Given the description of an element on the screen output the (x, y) to click on. 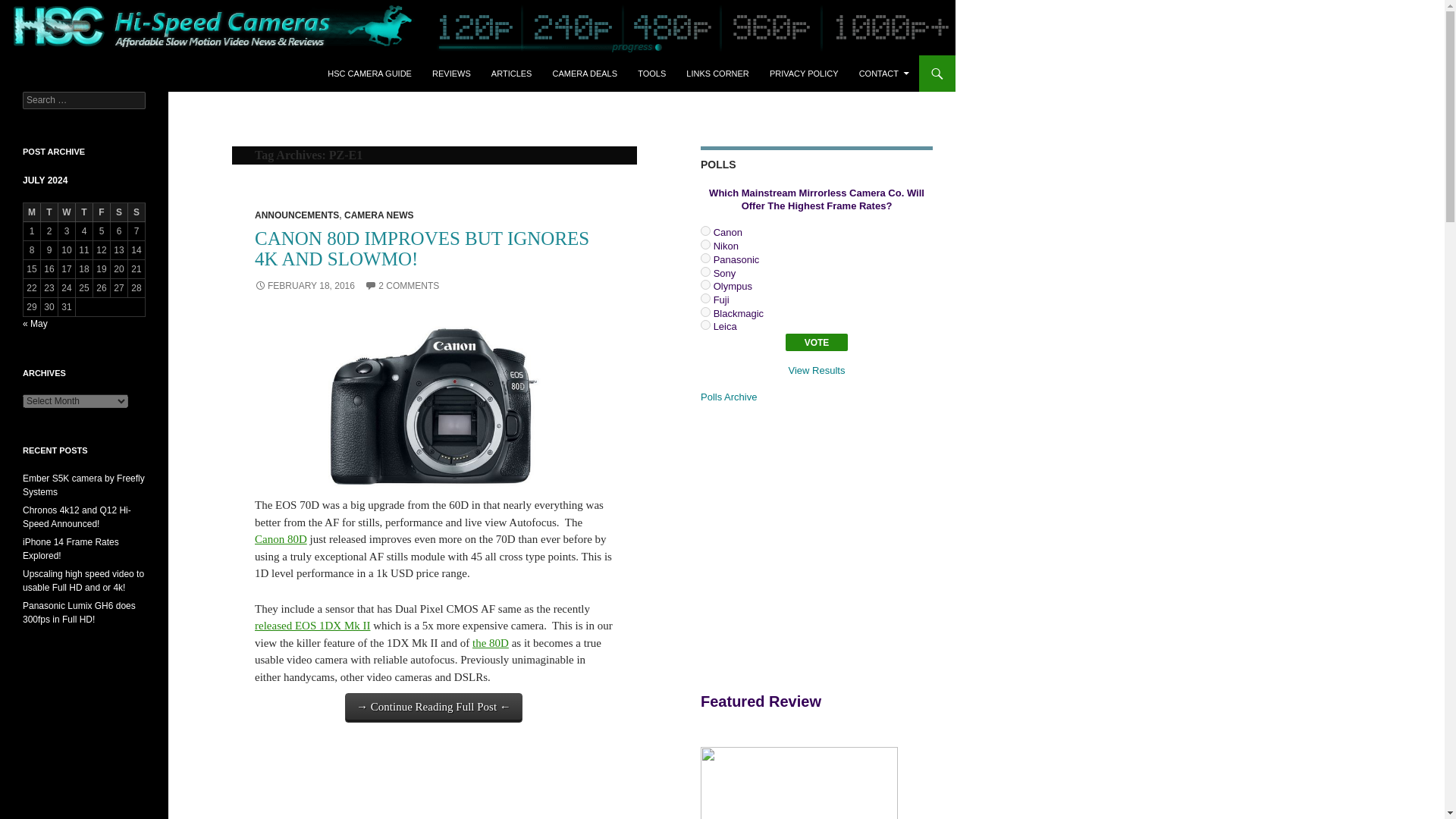
View Results Of This Poll (817, 369)
55 (705, 311)
CANON 80D IMPROVES BUT IGNORES 4K AND SLOWMO! (421, 248)
Thursday (84, 212)
released EOS 1DX Mk II (311, 625)
51 (705, 257)
Canon 80D (280, 539)
54 (705, 298)
50 (705, 244)
Hi Speed Cameras (82, 73)
CAMERA NEWS (378, 214)
Wednesday (66, 212)
Tuesday (49, 212)
